Given the description of an element on the screen output the (x, y) to click on. 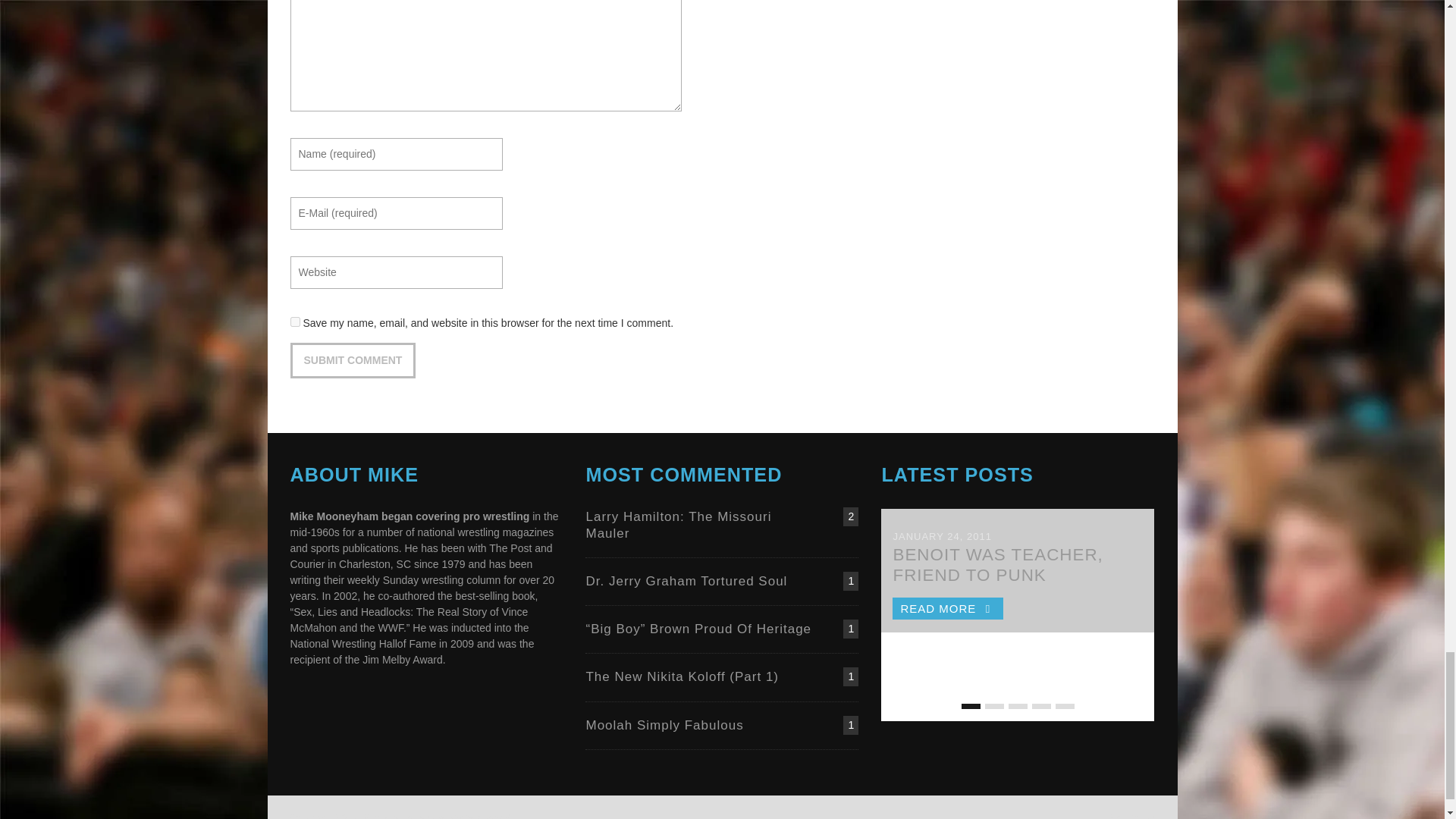
Submit comment (351, 360)
yes (294, 321)
